Given the description of an element on the screen output the (x, y) to click on. 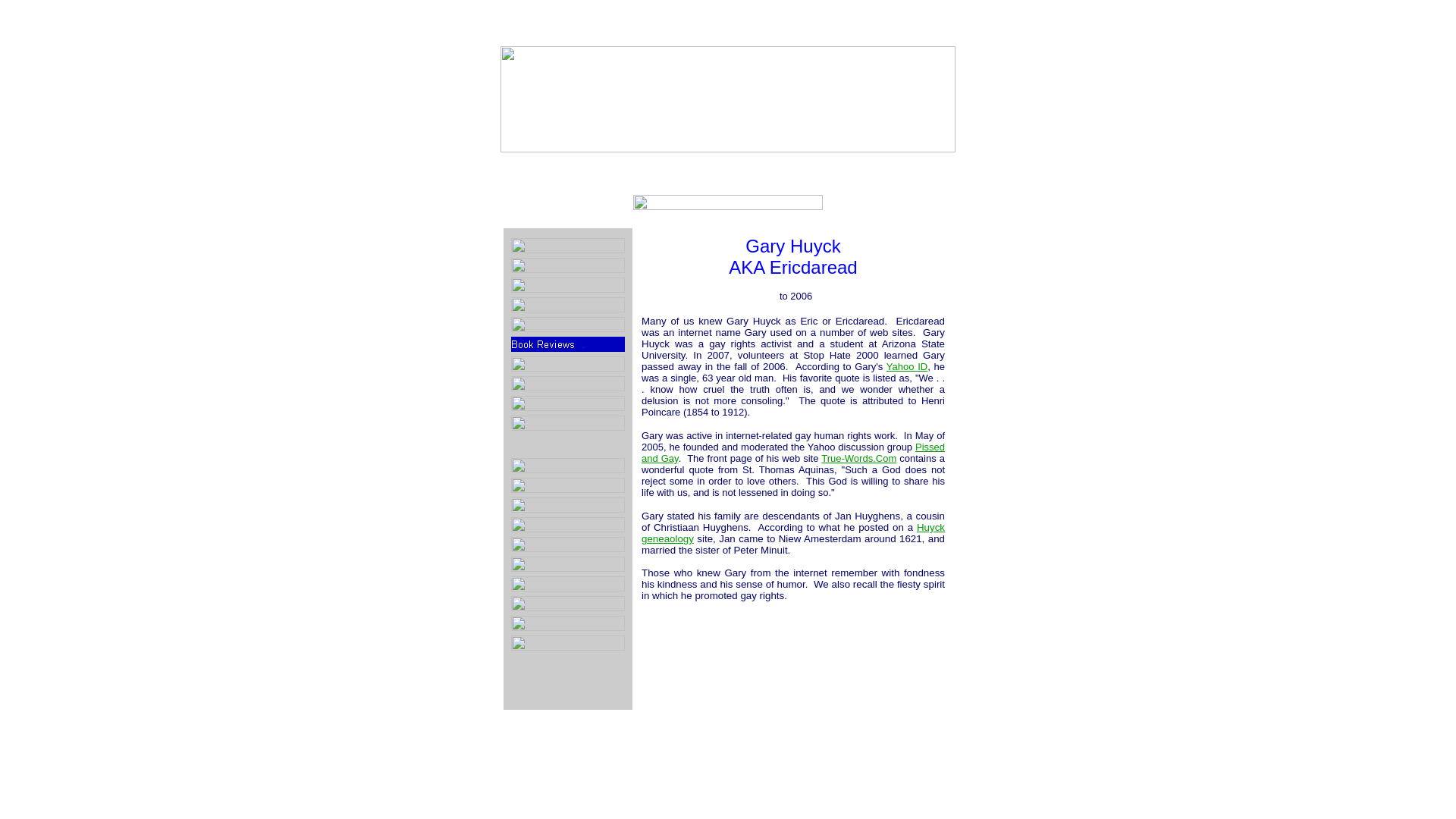
Yahoo ID (906, 366)
Pissed and Gay (793, 452)
Huyck geneaology (793, 532)
True-Words.Com (858, 458)
